Given the description of an element on the screen output the (x, y) to click on. 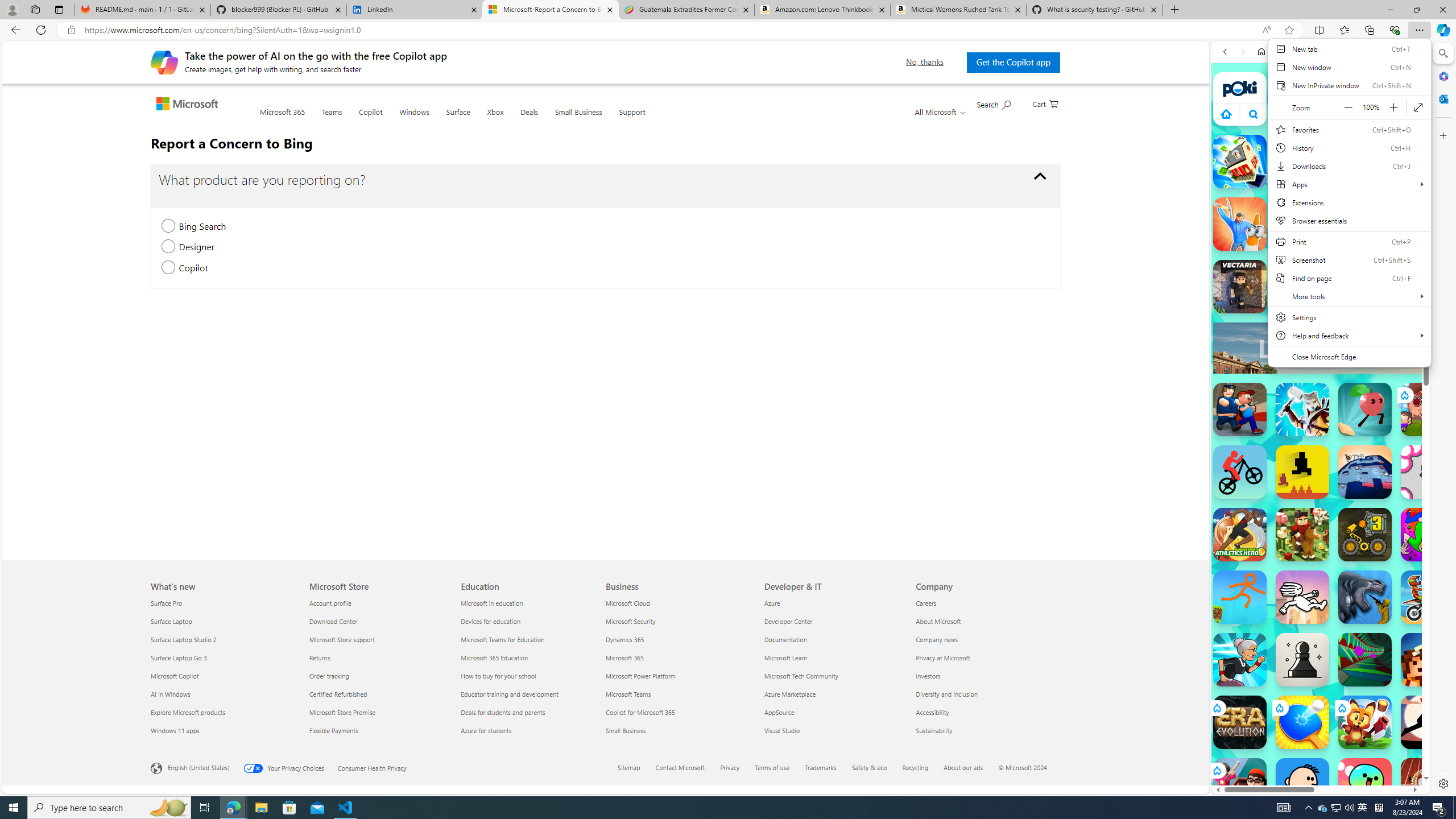
Copilot, new section will be expanded (167, 268)
Eat the world (1427, 409)
Copilot for Microsoft 365 (678, 711)
Privacy at Microsoft Company (942, 656)
Devices for education (529, 620)
Show More Two Player Games (1390, 323)
Settings and more (1349, 202)
Recycling (915, 766)
Era: Evolution Era: Evolution (1239, 722)
Print (1349, 241)
